Given the description of an element on the screen output the (x, y) to click on. 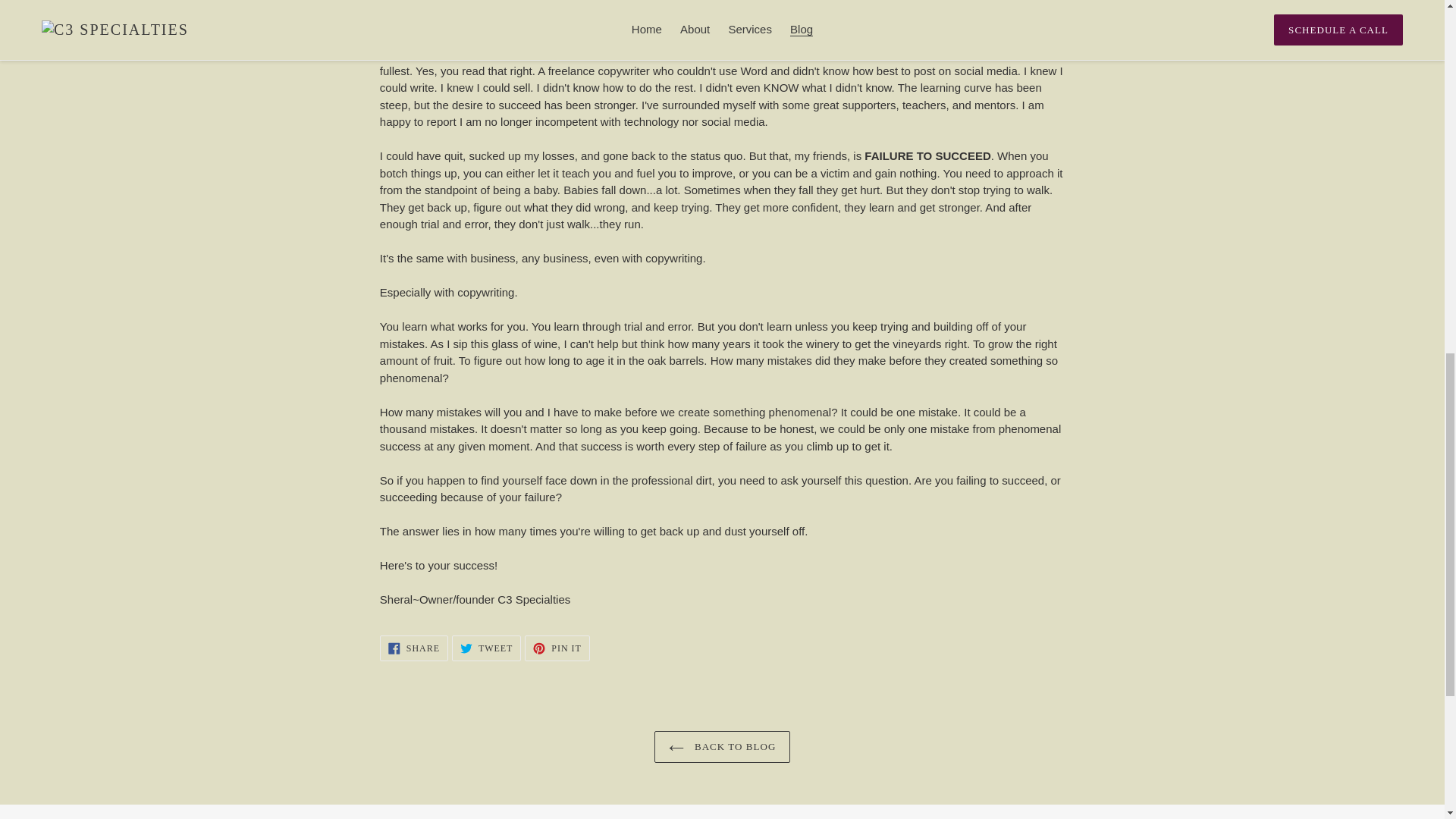
BACK TO BLOG (556, 647)
